Given the description of an element on the screen output the (x, y) to click on. 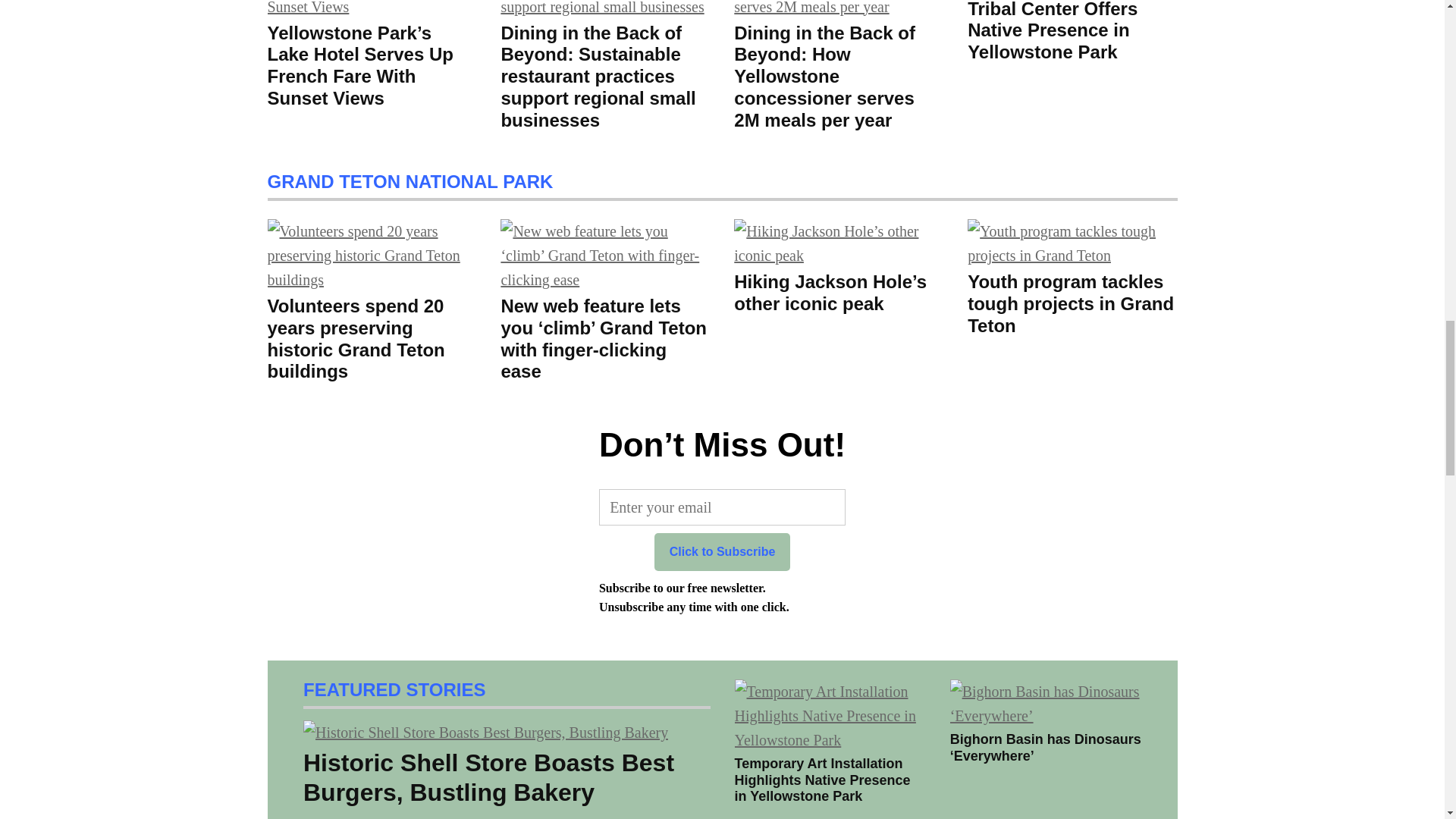
Enter your email (721, 506)
